Given the description of an element on the screen output the (x, y) to click on. 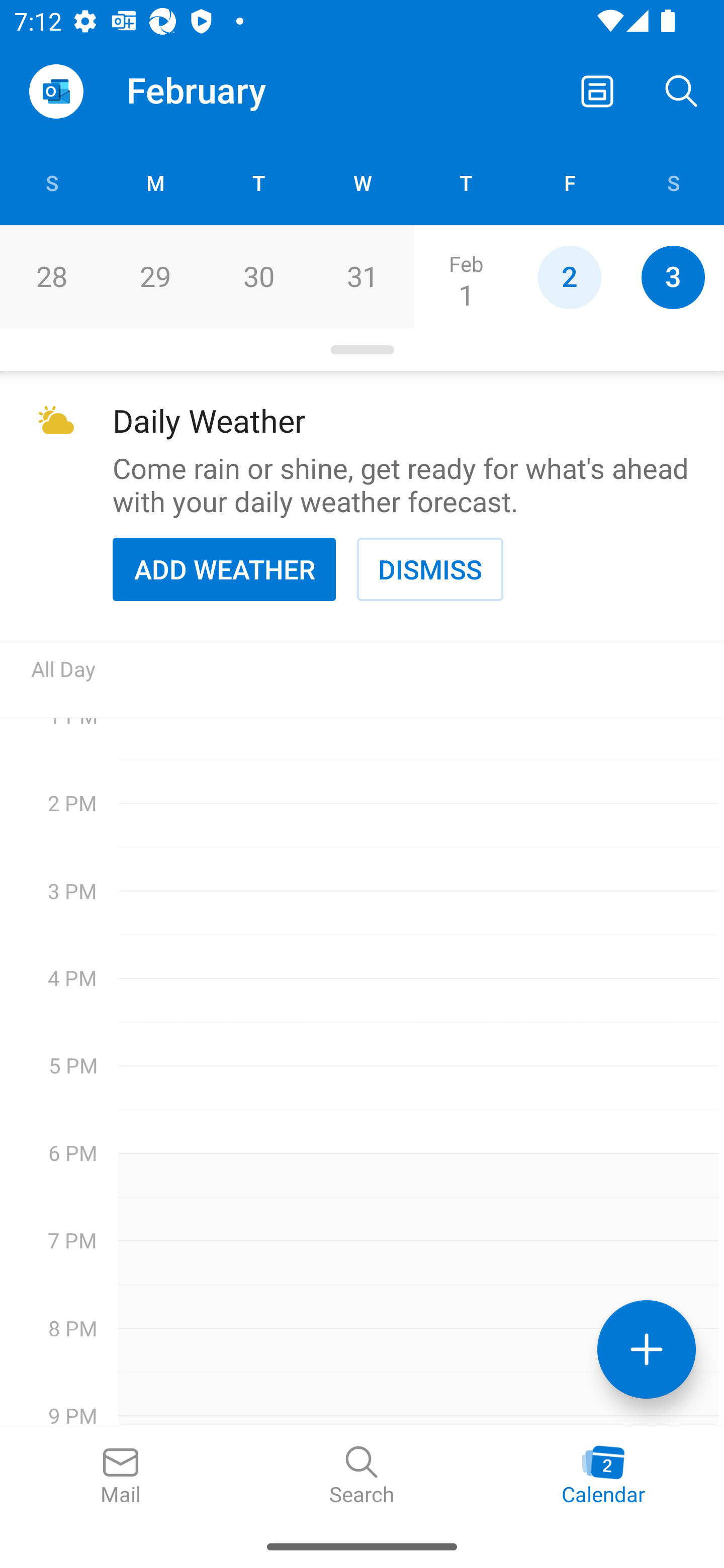
February February 2024, day picker expand (209, 90)
Switch away from Day view (597, 90)
Search (681, 90)
Open Navigation Drawer (55, 91)
28 Sunday, January 28 (51, 277)
29 Monday, January 29 (155, 277)
30 Tuesday, January 30 (258, 277)
31 Wednesday, January 31 (362, 277)
Feb
1 Thursday, February 1 (465, 277)
2 Friday, February 2, today (569, 277)
3 Saturday, February 3, Selected (672, 277)
Day picker expand (362, 350)
ADD WEATHER (224, 568)
DISMISS (429, 568)
Add new event (646, 1348)
Mail (120, 1475)
Search (361, 1475)
